Given the description of an element on the screen output the (x, y) to click on. 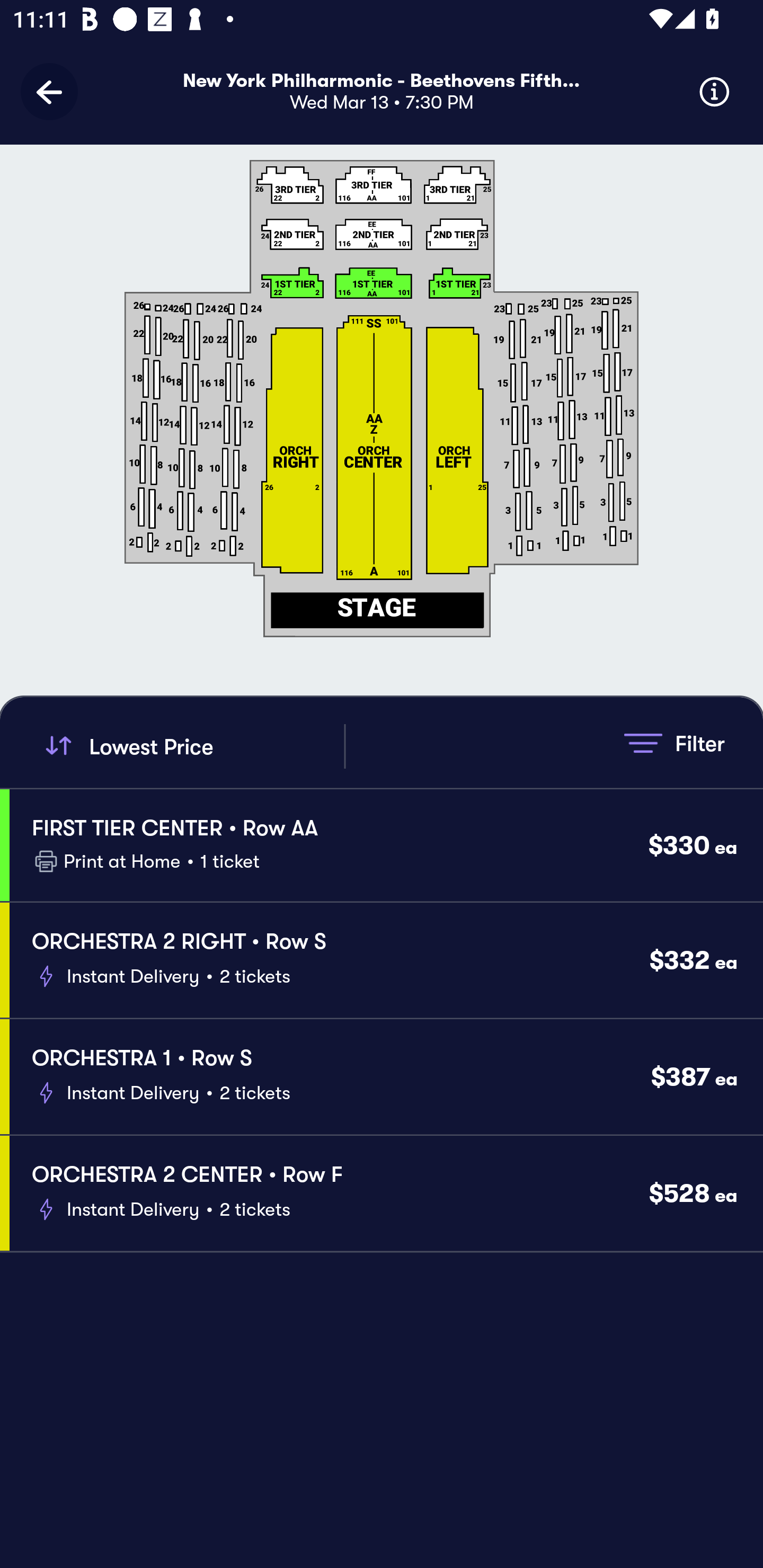
Lowest Price (191, 746)
Filter (674, 743)
